Given the description of an element on the screen output the (x, y) to click on. 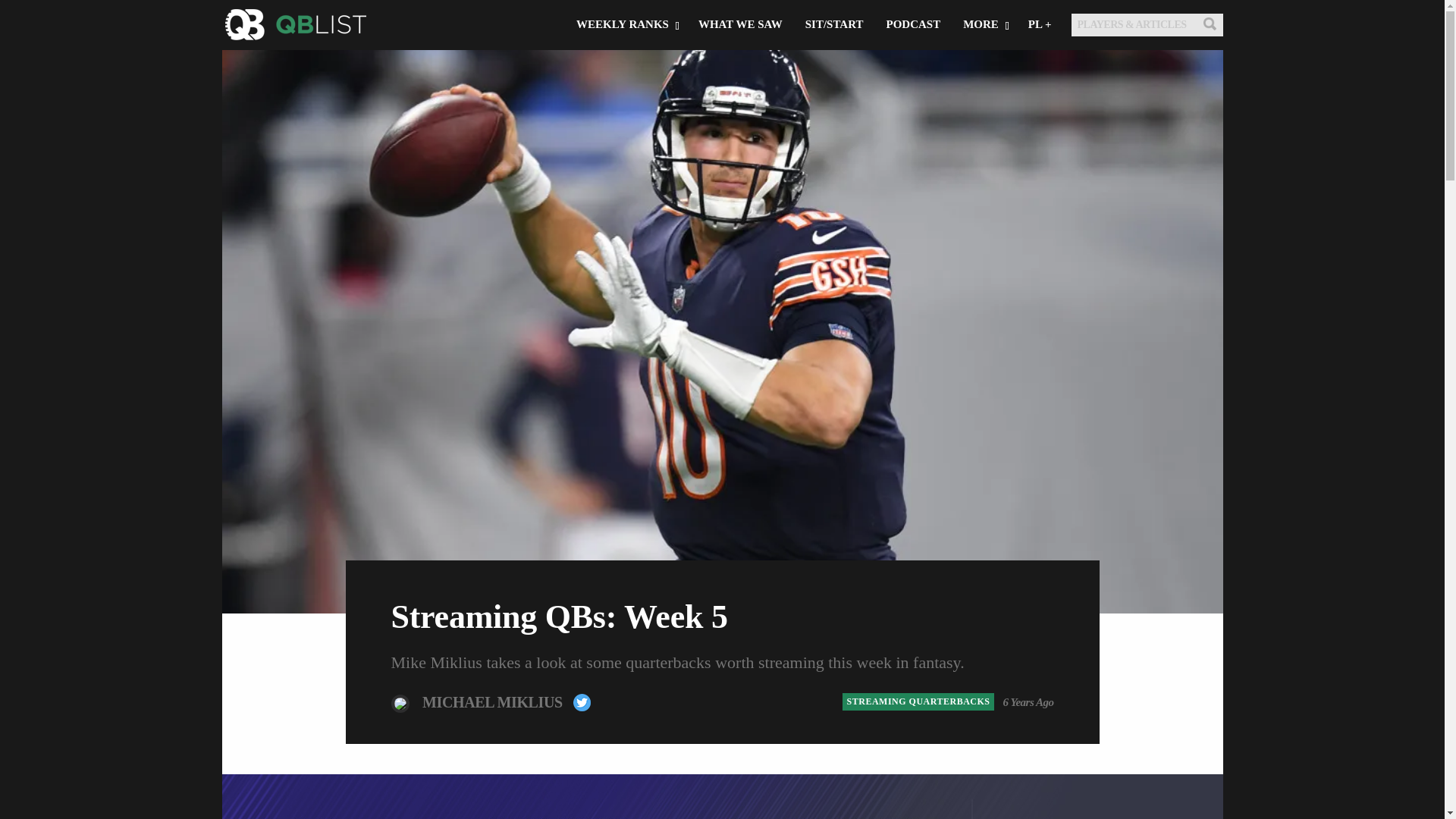
STREAMING QUARTERBACKS (918, 701)
MORE (984, 74)
MICHAEL MIKLIUS (494, 701)
PODCAST (913, 74)
WHAT WE SAW (740, 74)
